Given the description of an element on the screen output the (x, y) to click on. 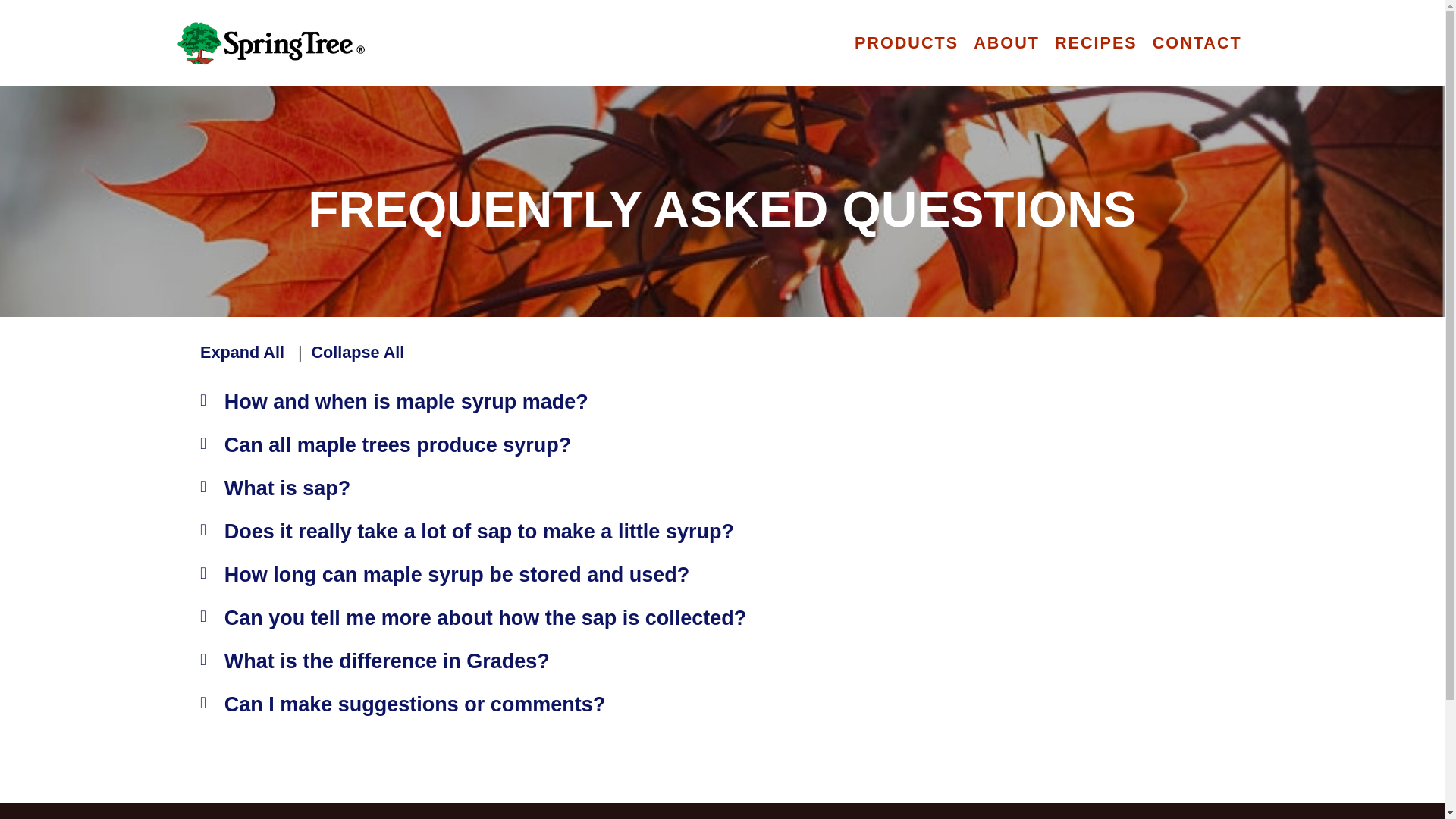
Collapse All (357, 352)
Does it really take a lot of sap to make a little syrup? (478, 531)
What is sap? (287, 486)
About (664, 814)
Products (596, 814)
Can you tell me more about how the sap is collected? (485, 617)
Can all maple trees produce syrup? (398, 445)
Can I make suggestions or comments? (414, 703)
How long can maple syrup be stored and used? (457, 573)
What is the difference in Grades? (387, 660)
